Given the description of an element on the screen output the (x, y) to click on. 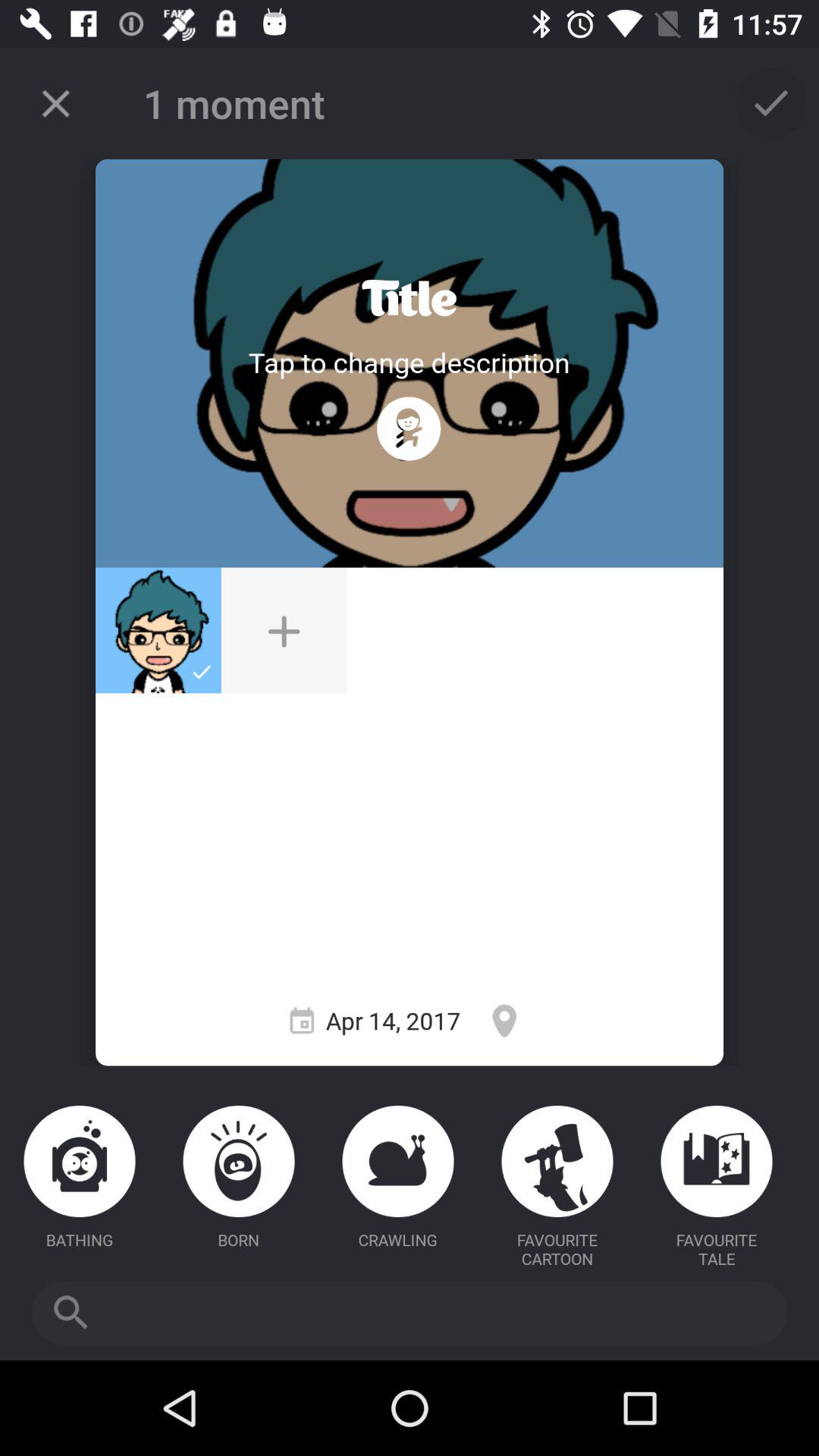
select icon above the apr 14, 2017 icon (408, 428)
